Given the description of an element on the screen output the (x, y) to click on. 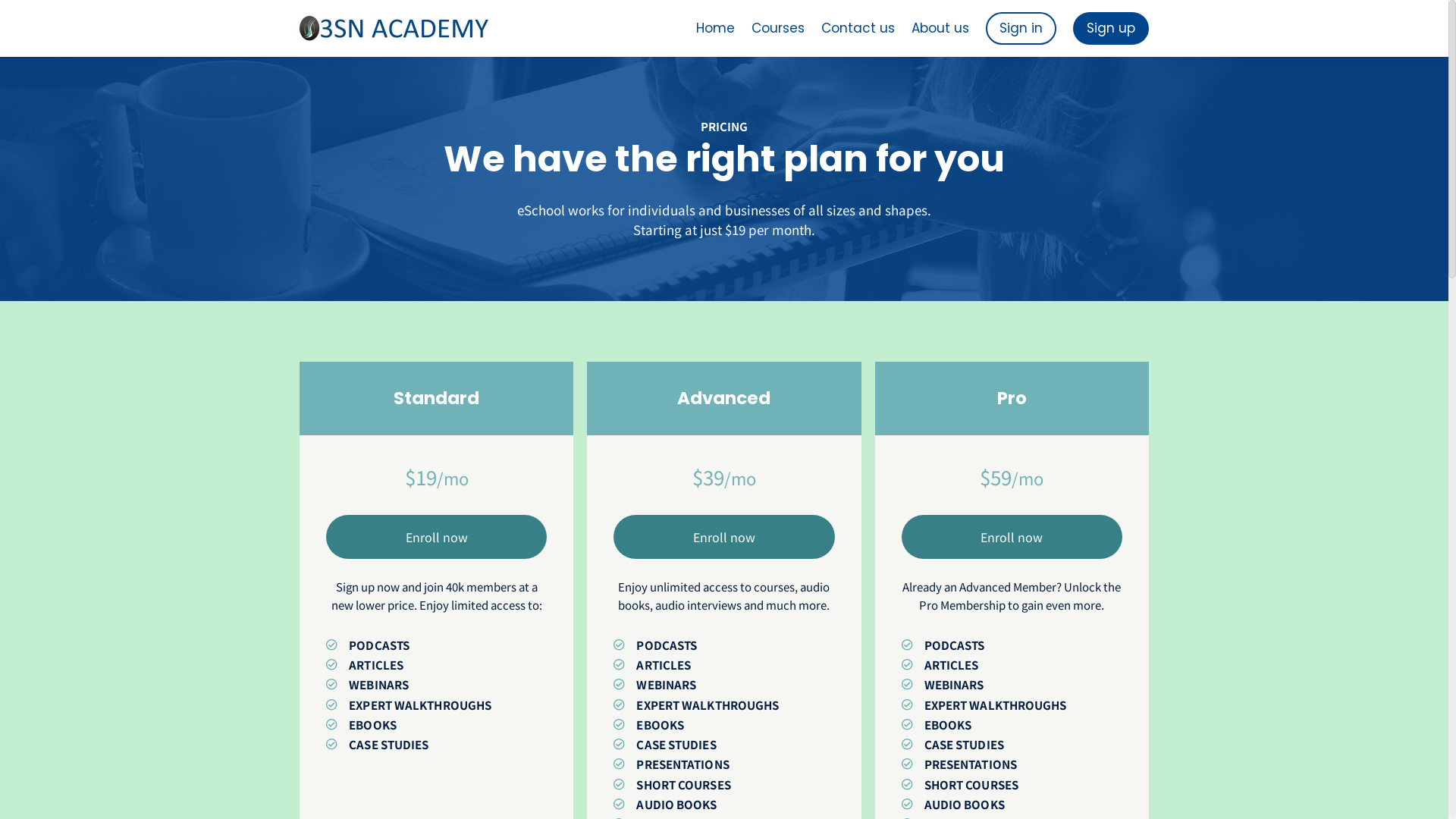
Courses Element type: text (777, 27)
Enroll now Element type: text (723, 536)
Sign up Element type: text (1110, 27)
Enroll now Element type: text (1011, 536)
Enroll now Element type: text (436, 536)
About us Element type: text (940, 27)
Contact us Element type: text (857, 27)
Sign in Element type: text (1020, 27)
Home Element type: text (715, 27)
